Given the description of an element on the screen output the (x, y) to click on. 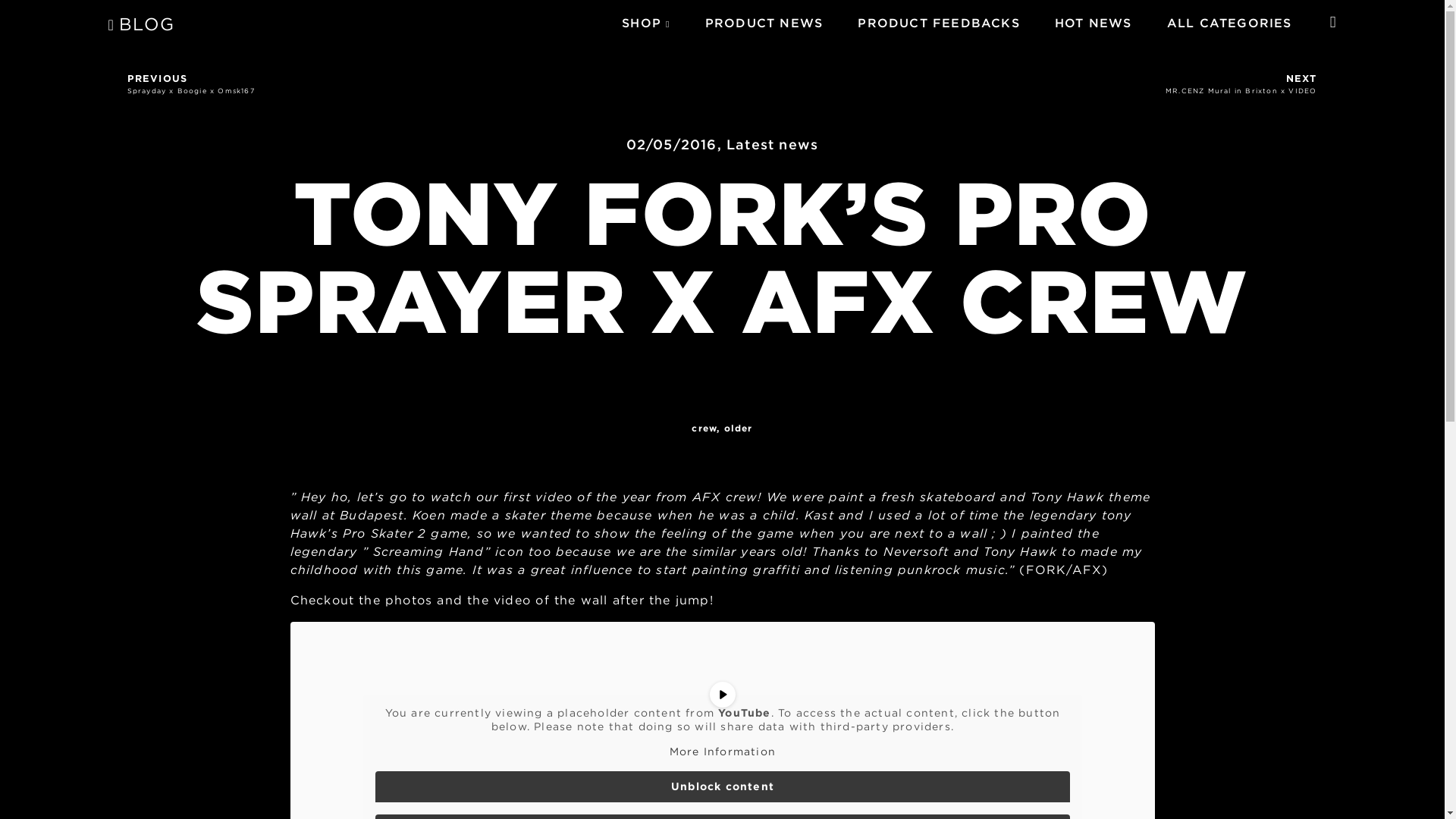
Latest news (772, 144)
PRODUCT NEWS (763, 22)
Accept required service and unblock content (418, 83)
More Information (641, 22)
BLOG (721, 752)
older (1024, 83)
Unblock content (140, 25)
